Given the description of an element on the screen output the (x, y) to click on. 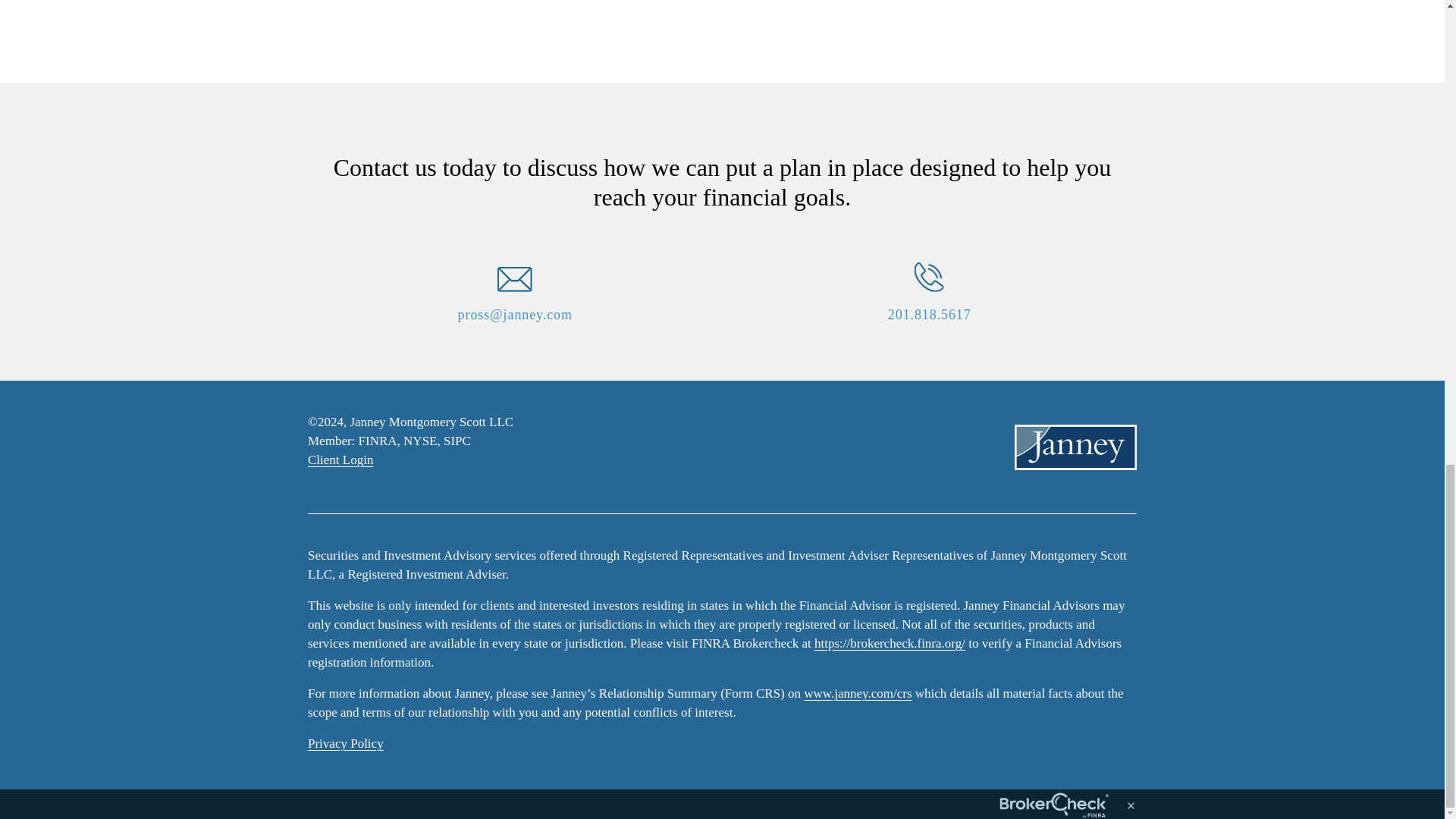
phone-img (928, 276)
201.818.5617 (929, 314)
email-img (514, 278)
janney-logo-img (1075, 446)
NYSE (419, 440)
Client Login (339, 459)
FINRA (377, 440)
SIPC (457, 440)
